Given the description of an element on the screen output the (x, y) to click on. 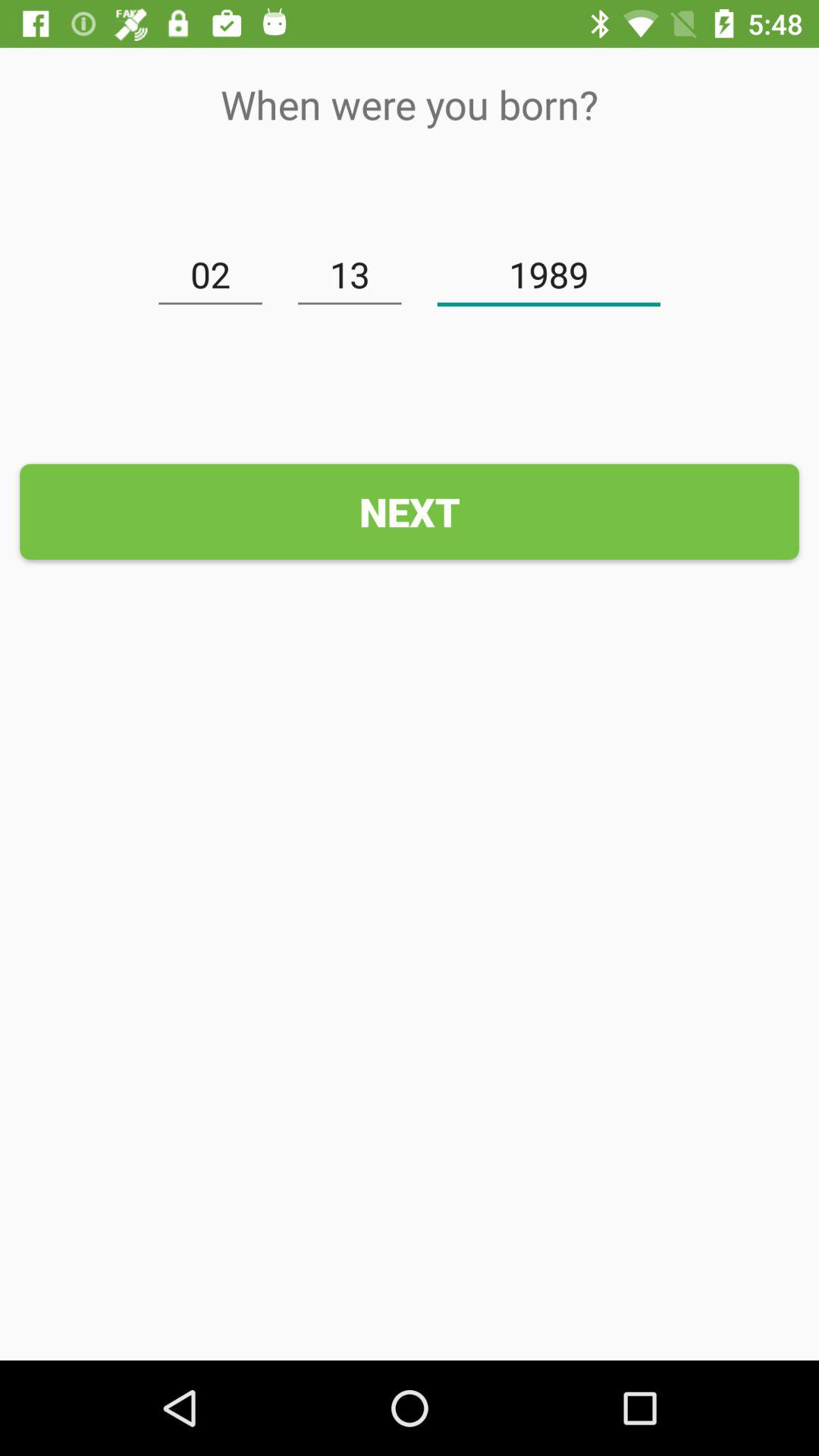
click item next to 1989 icon (349, 275)
